Given the description of an element on the screen output the (x, y) to click on. 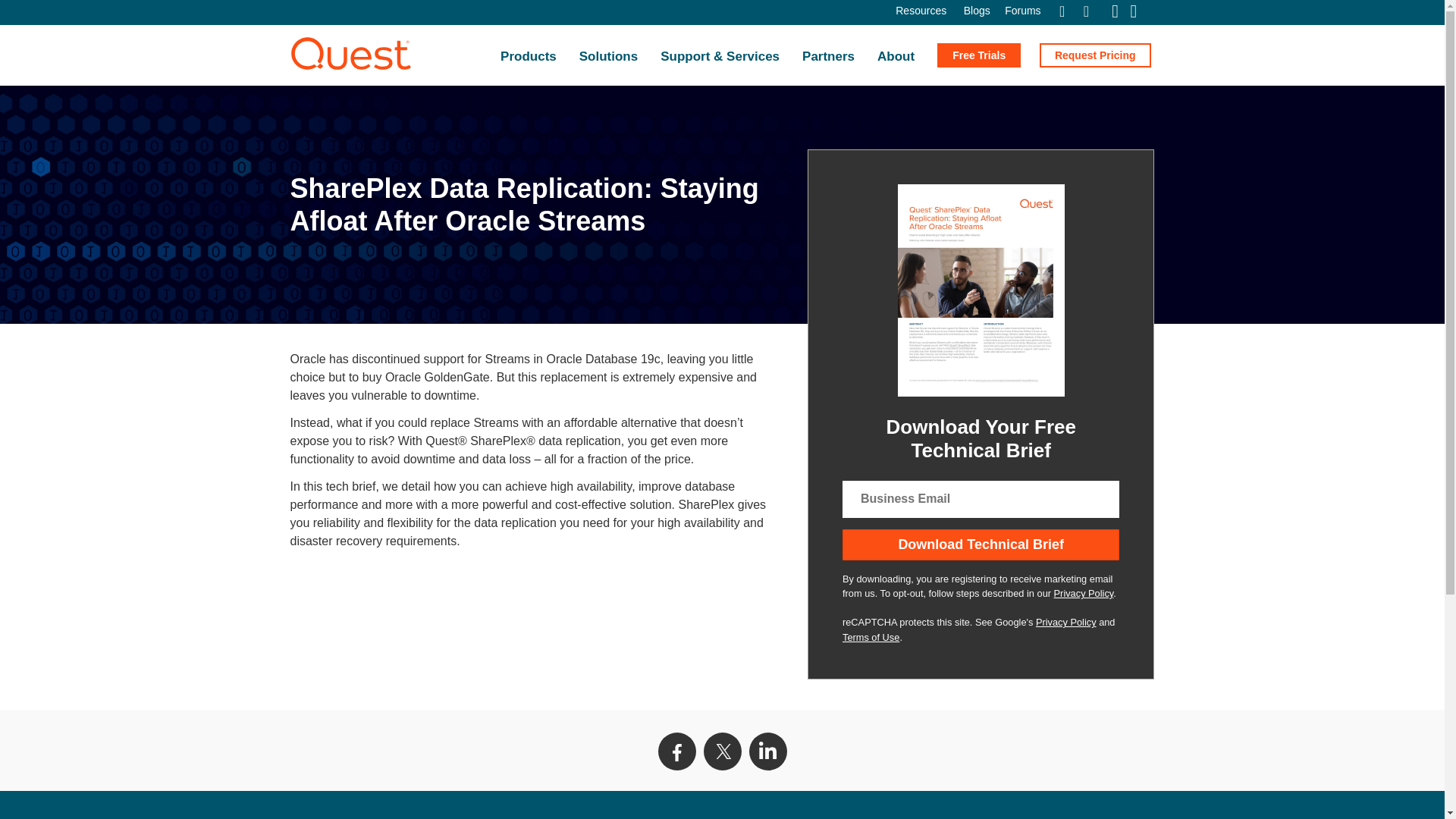
Download Technical Brief (981, 544)
Forums (1022, 10)
Linkedin (768, 751)
Facebook (676, 751)
Twitter (722, 751)
